Given the description of an element on the screen output the (x, y) to click on. 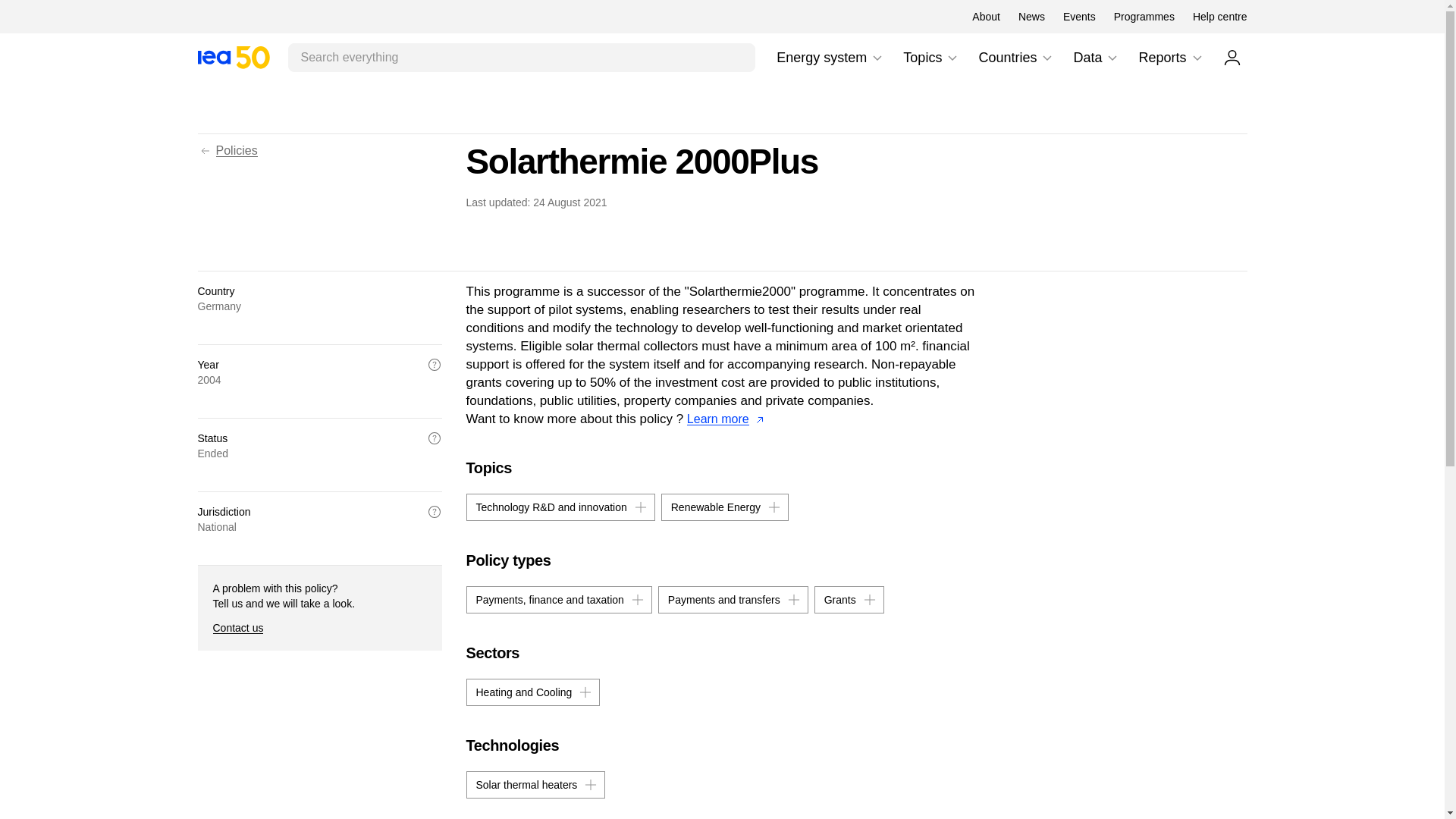
IEA (232, 56)
User Profile (1231, 57)
News (1031, 16)
About (986, 16)
return (204, 150)
Chevron down (1112, 57)
Help centre (931, 57)
IEA (1219, 16)
Chevron down (232, 56)
